Given the description of an element on the screen output the (x, y) to click on. 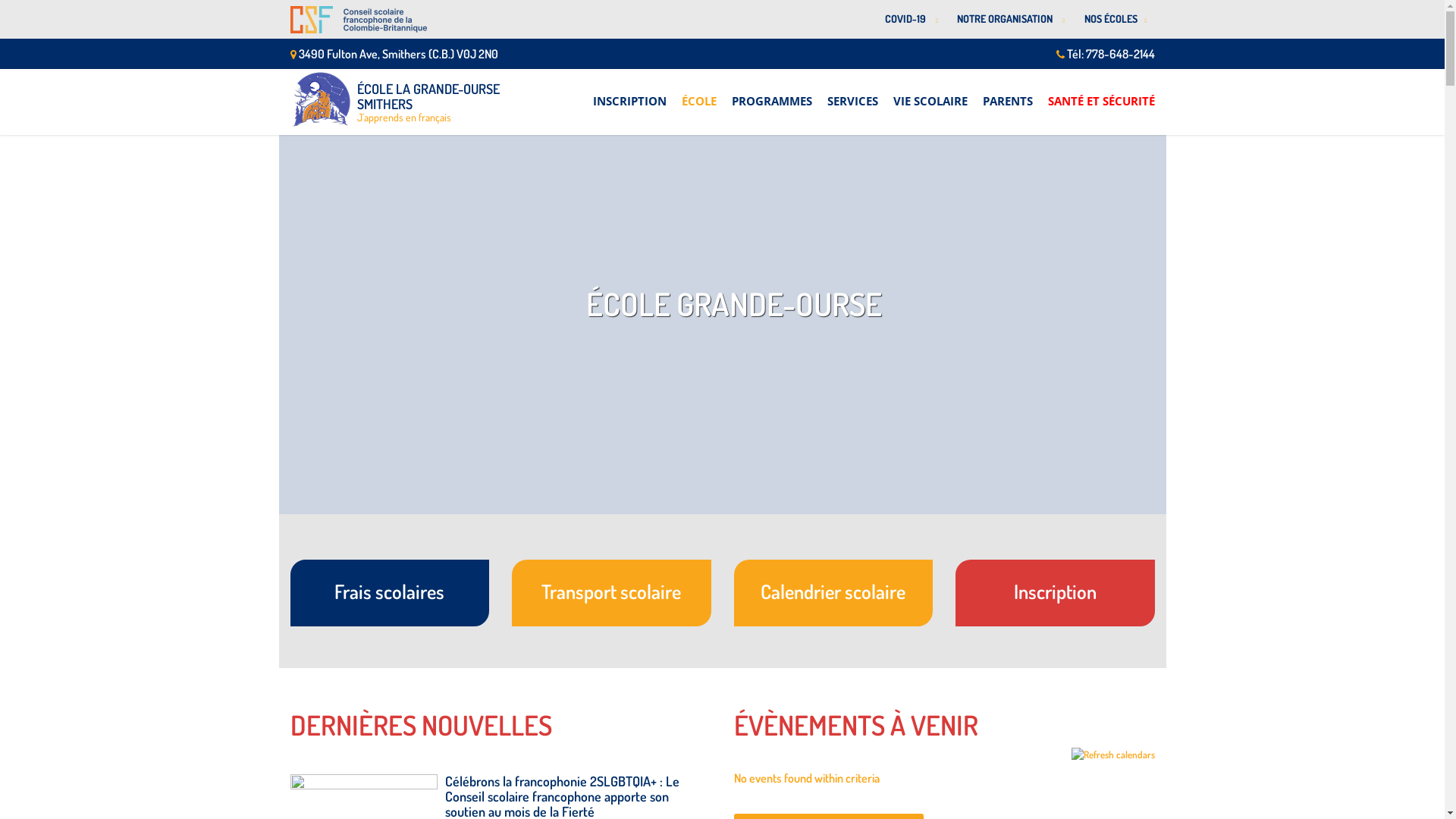
SERVICES Element type: text (851, 92)
Frais scolaires Element type: text (389, 592)
COVID-19  Element type: text (909, 19)
No events found within criteria Element type: text (806, 777)
Refresh calendars Remote file had no modifications.  Element type: hover (1112, 754)
PARENTS Element type: text (1007, 92)
PROGRAMMES Element type: text (771, 92)
VIE SCOLAIRE Element type: text (930, 92)
INSCRIPTION Element type: text (629, 92)
Calendrier scolaire Element type: text (833, 592)
NOTRE ORGANISATION  Element type: text (1008, 19)
Inscription Element type: text (1054, 592)
Transport scolaire Element type: text (611, 592)
